Given the description of an element on the screen output the (x, y) to click on. 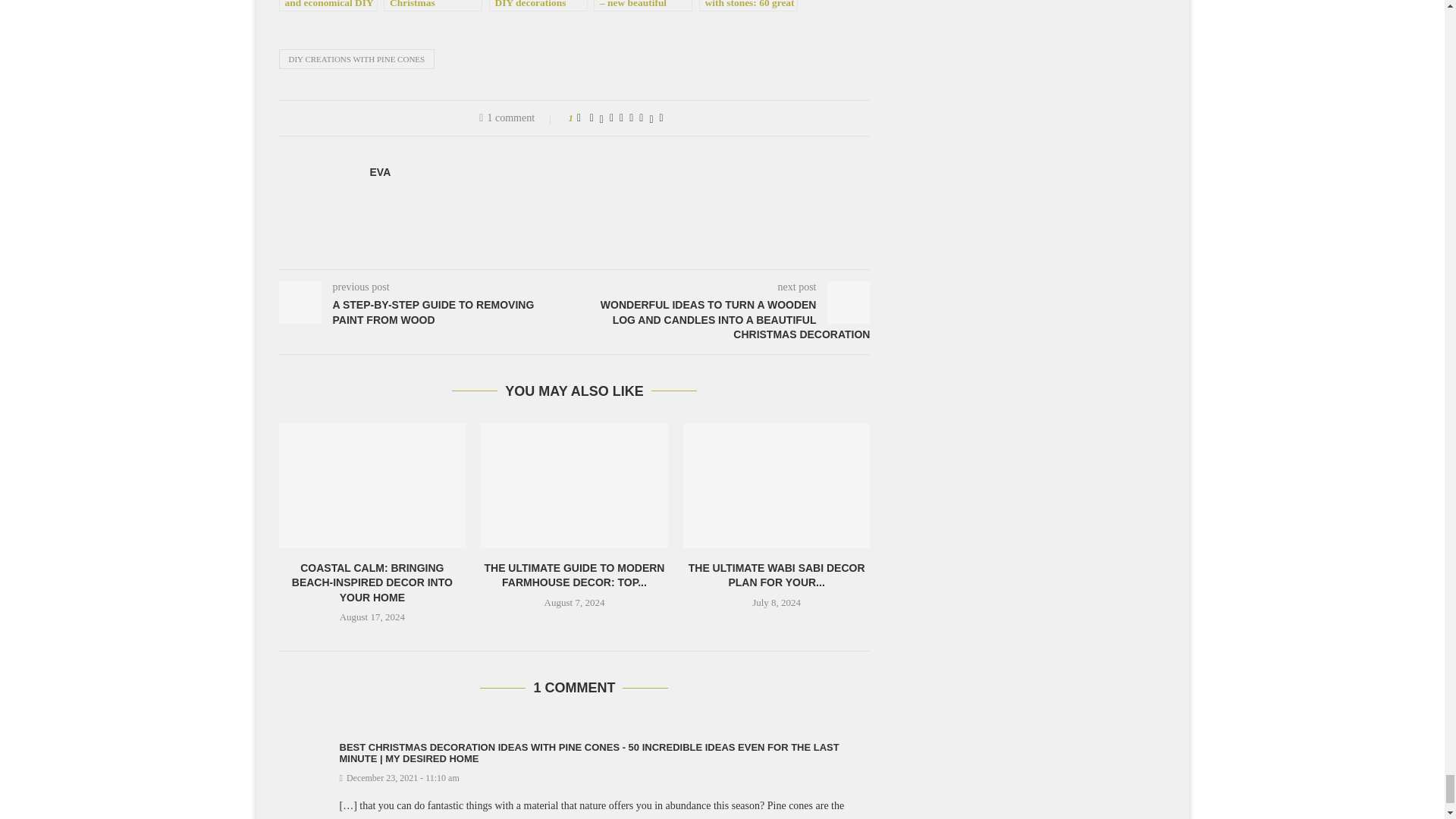
Coastal Calm: Bringing Beach-Inspired Decor into Your Home (372, 485)
Author Eva (380, 172)
The Ultimate Wabi Sabi Decor Plan for Your Entire Home (776, 485)
